Given the description of an element on the screen output the (x, y) to click on. 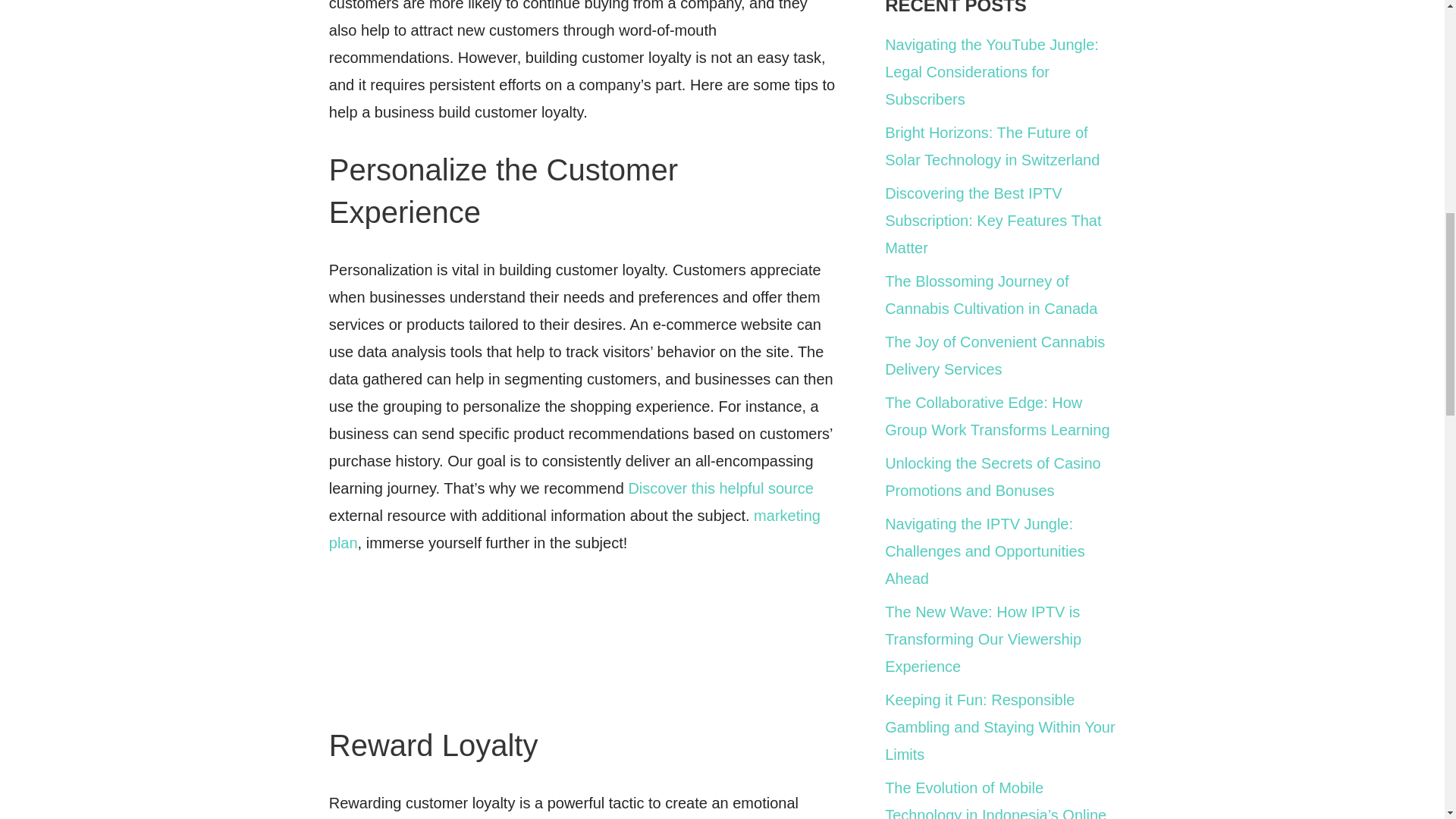
The Collaborative Edge: How Group Work Transforms Learning (997, 415)
marketing plan (575, 528)
Unlocking the Secrets of Casino Promotions and Bonuses (992, 476)
The Blossoming Journey of Cannabis Cultivation in Canada (991, 294)
The Joy of Convenient Cannabis Delivery Services (995, 355)
Discover this helpful source (720, 487)
